Given the description of an element on the screen output the (x, y) to click on. 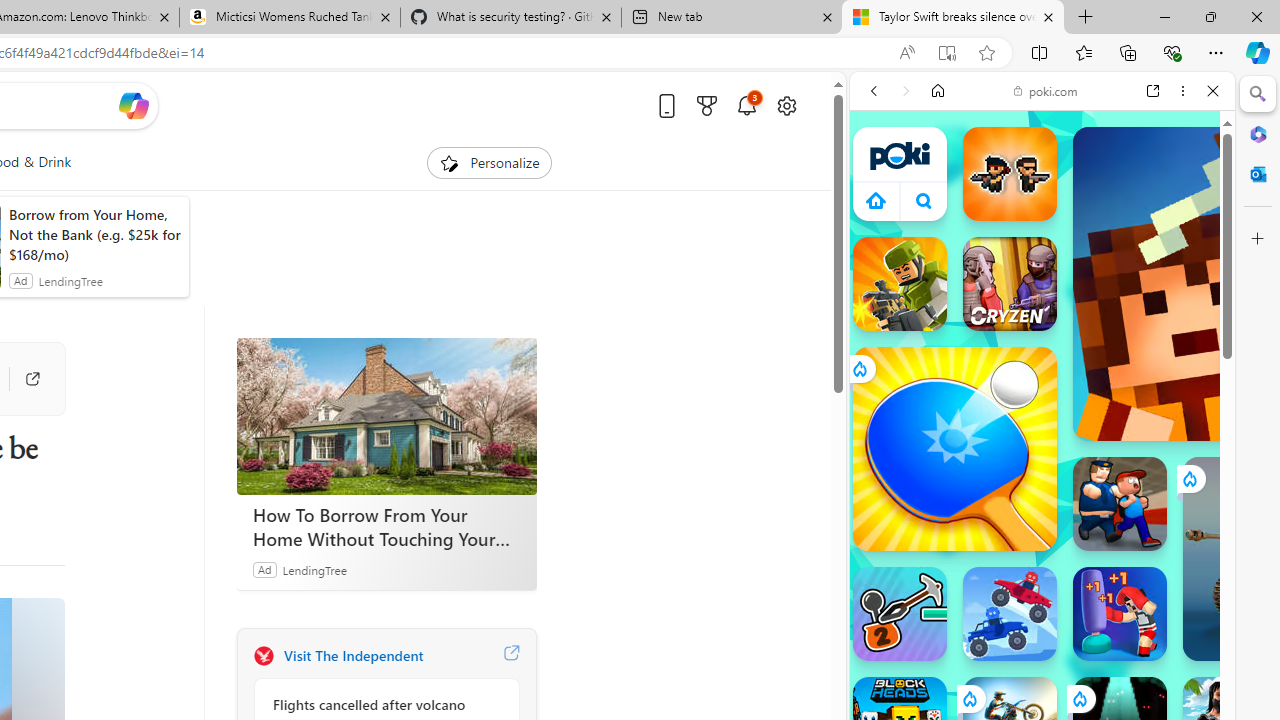
Class: B_5ykBA46kDOxiz_R9wm (923, 200)
Battle Wheels (1009, 613)
Kour.io (899, 283)
Ping Pong Go! Ping Pong Go! (954, 448)
Two Player Games (1042, 568)
